Given the description of an element on the screen output the (x, y) to click on. 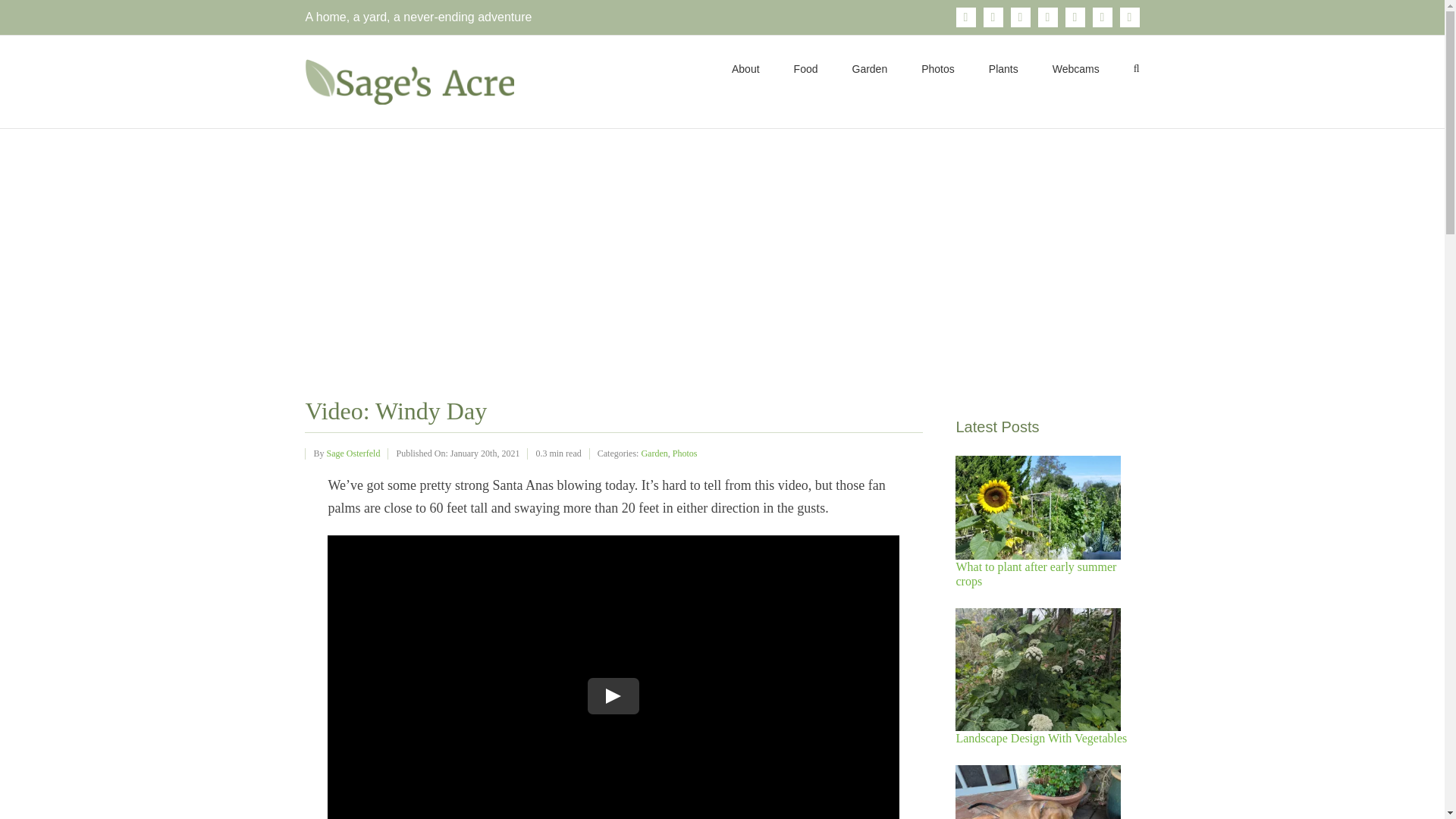
Pinterest (1048, 17)
YouTube (1129, 17)
Facebook (965, 17)
Instagram (993, 17)
Garden (653, 452)
X (1020, 17)
Play (614, 696)
Photos (684, 452)
Rss (1102, 17)
Reddit (1074, 17)
Posts by Sage Osterfeld (353, 452)
Sage Osterfeld (353, 452)
